Given the description of an element on the screen output the (x, y) to click on. 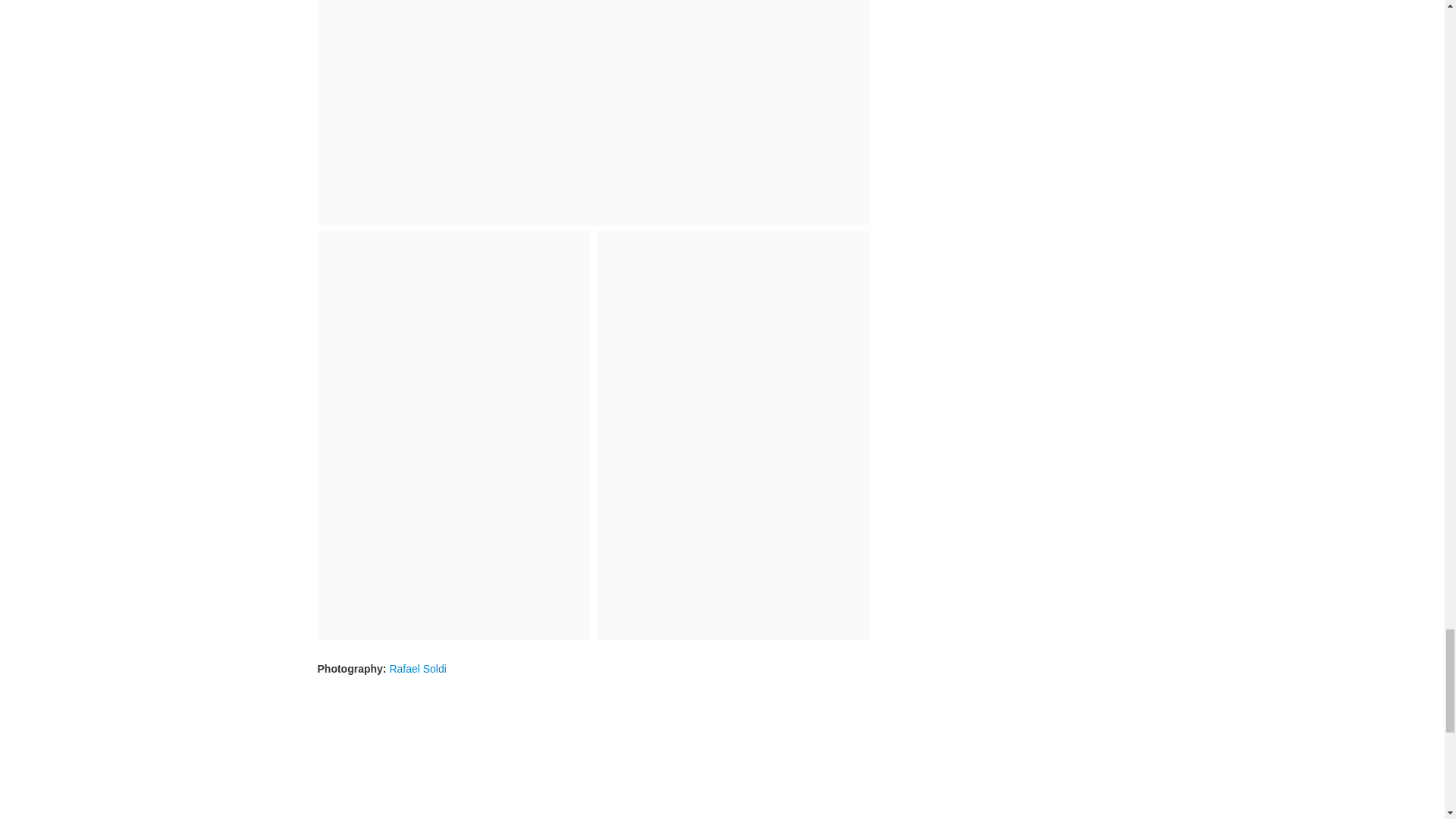
Rafael Soldi (417, 668)
